Given the description of an element on the screen output the (x, y) to click on. 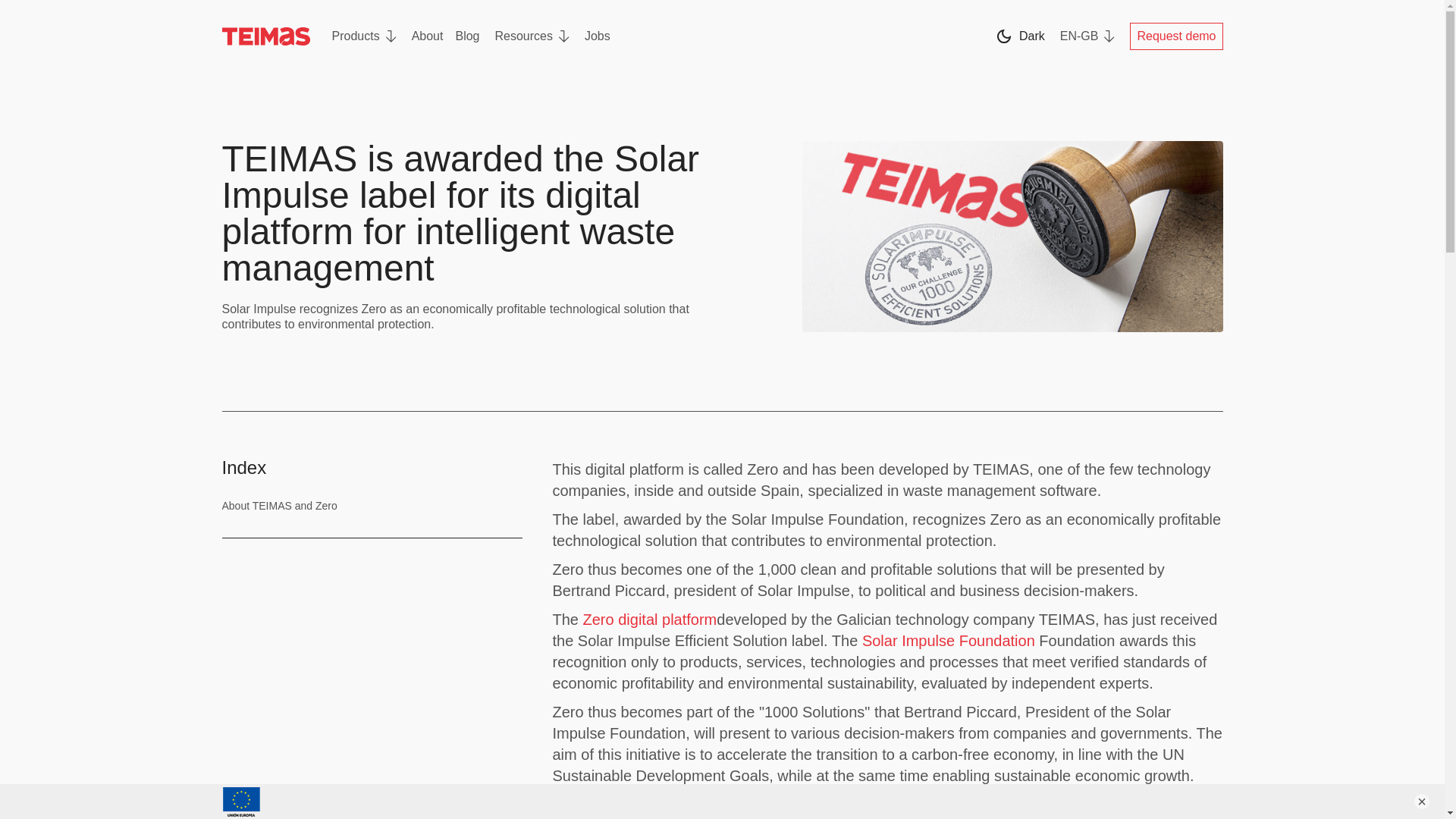
Solar Impulse Foundation (948, 640)
Zero digital platform (650, 619)
Request demo (1176, 35)
About TEIMAS and Zero (371, 505)
